Given the description of an element on the screen output the (x, y) to click on. 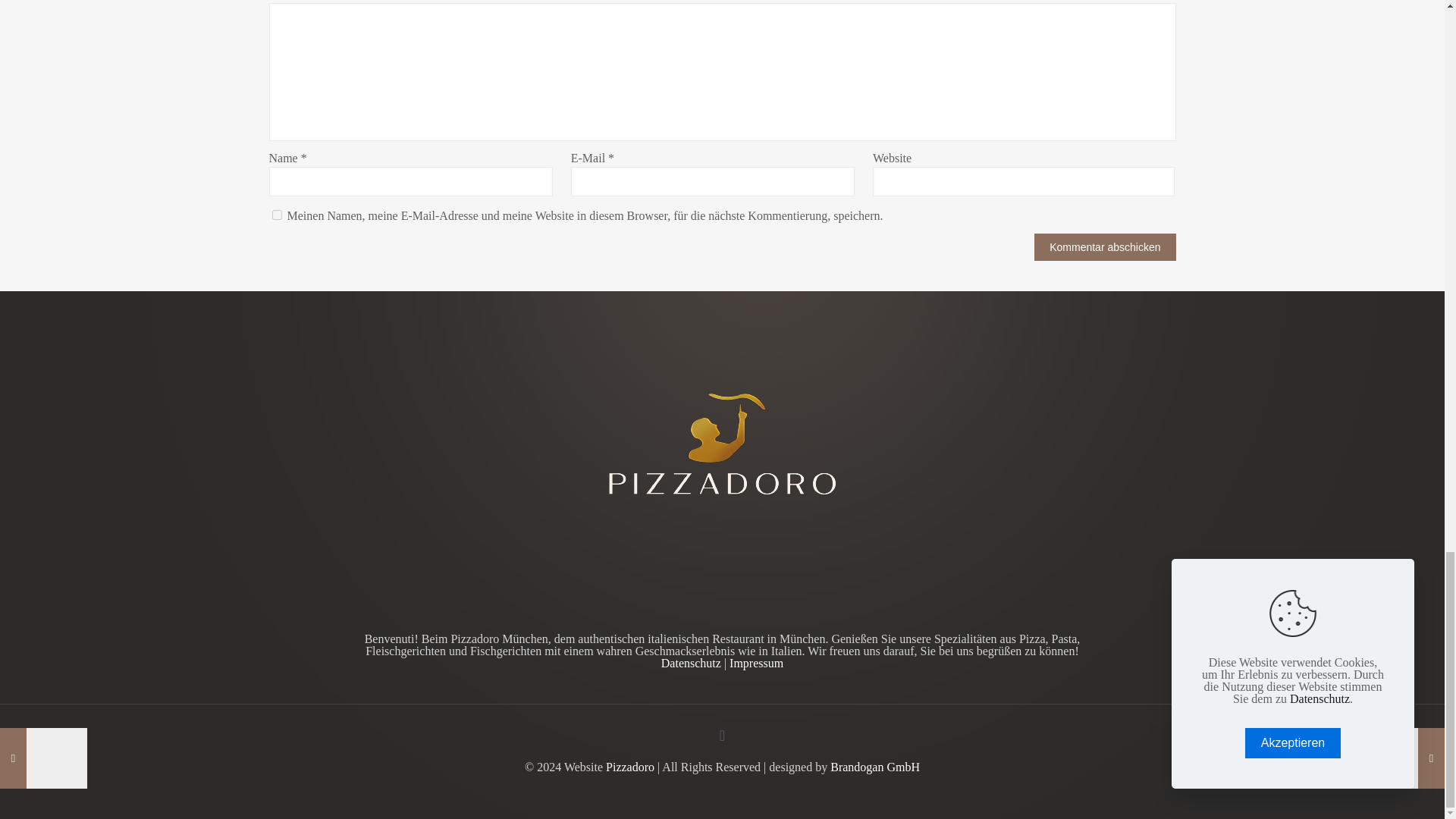
Kommentar abschicken (1103, 247)
Datenschutz (690, 662)
Pizzadoro (629, 766)
yes (275, 214)
Kommentar abschicken (1103, 247)
Impressum (756, 662)
Brandogan GmbH (874, 766)
